Given the description of an element on the screen output the (x, y) to click on. 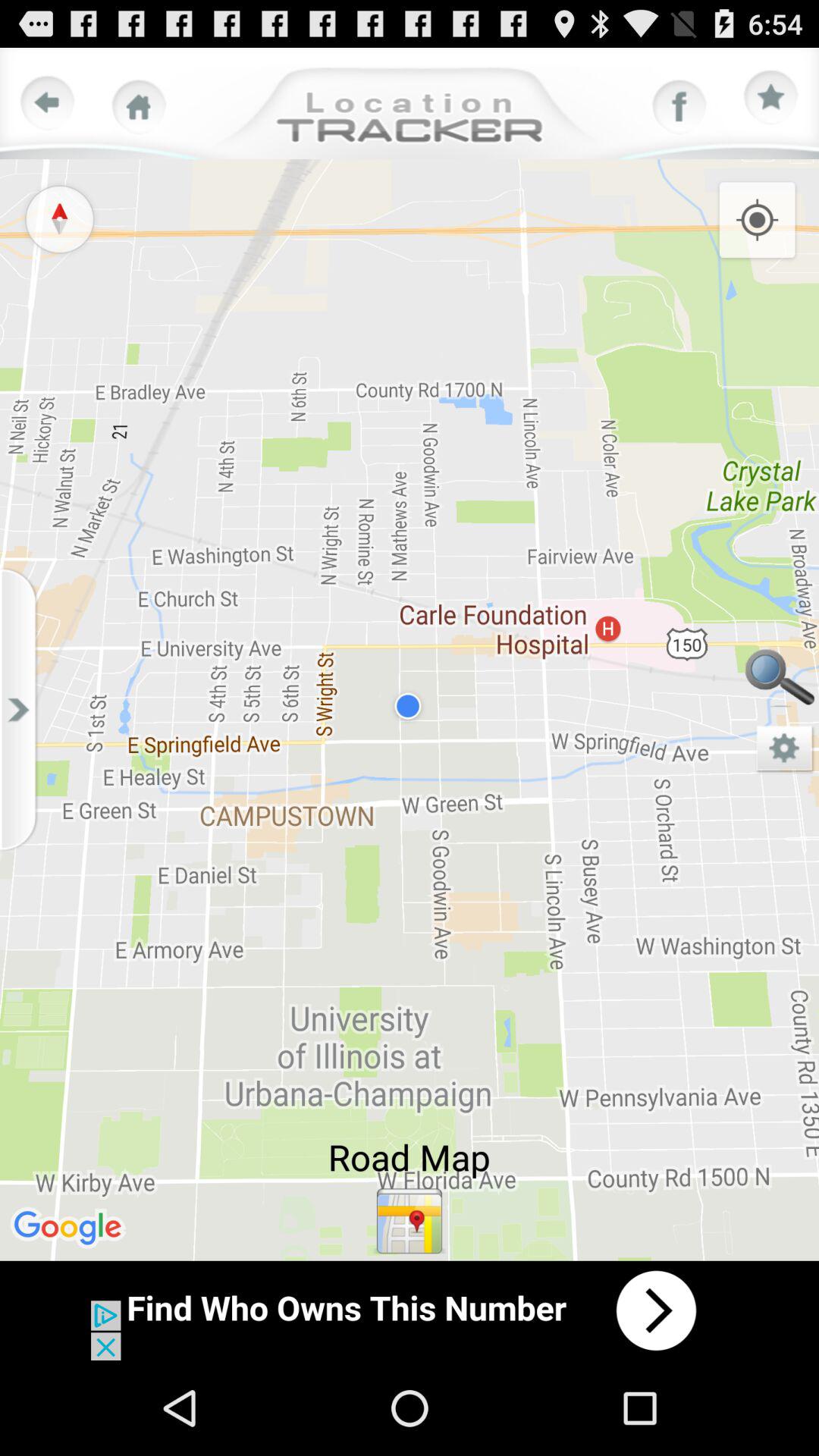
google setting button (785, 749)
